Given the description of an element on the screen output the (x, y) to click on. 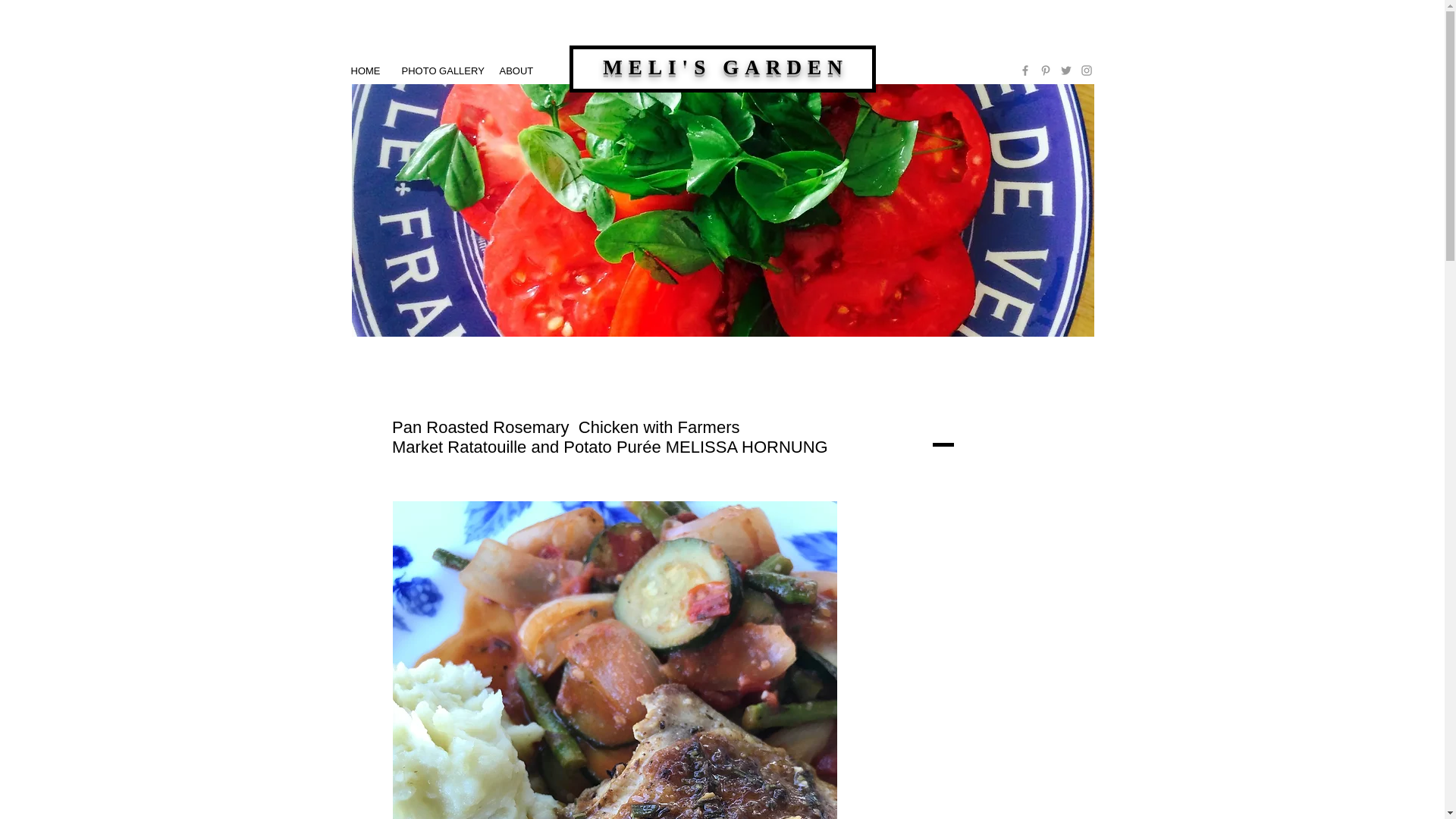
MELI'S GARDEN (725, 67)
PHOTO GALLERY (440, 70)
ABOUT (514, 70)
HOME (364, 70)
